Given the description of an element on the screen output the (x, y) to click on. 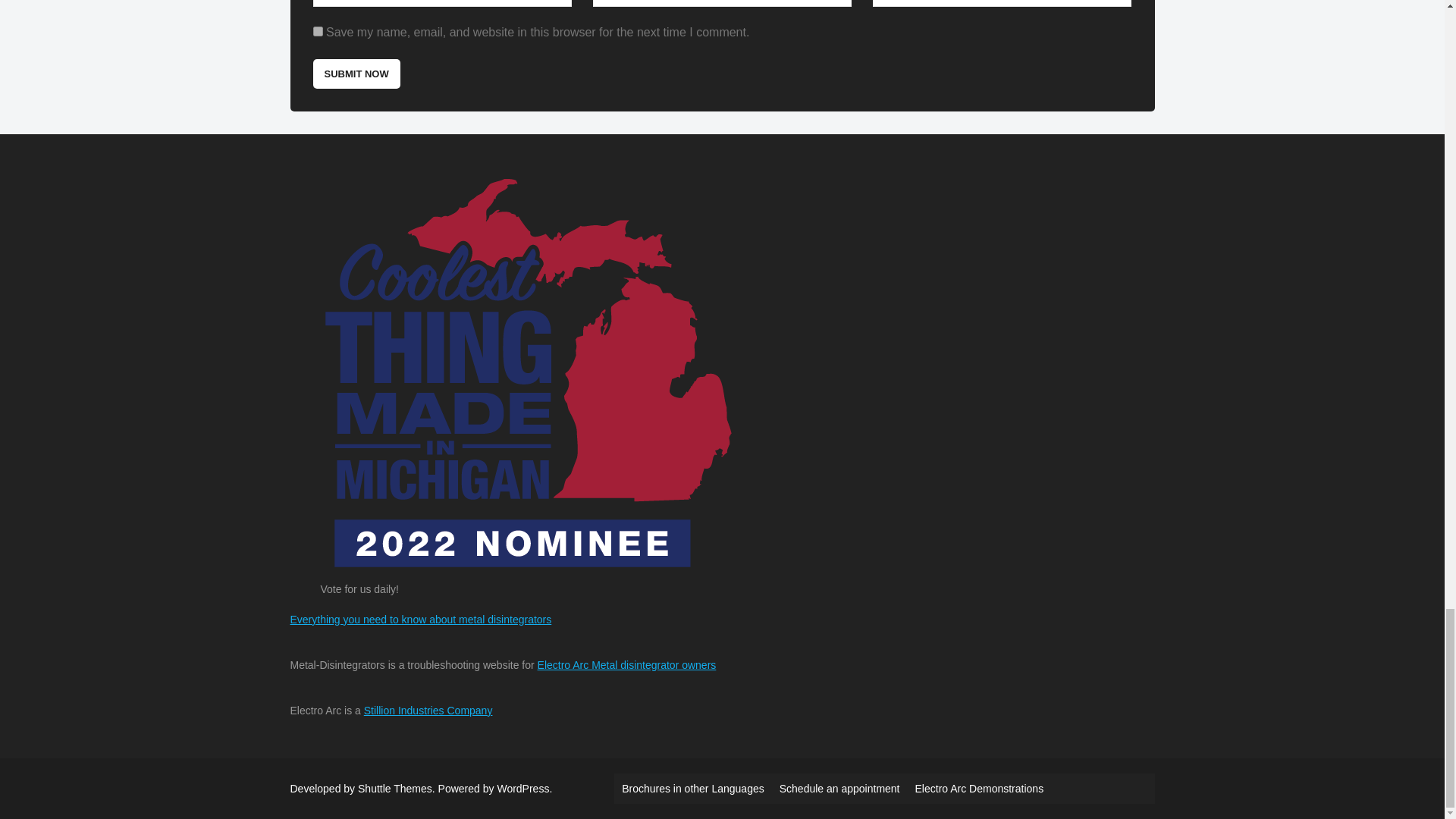
yes (317, 31)
Submit Now (355, 73)
